Given the description of an element on the screen output the (x, y) to click on. 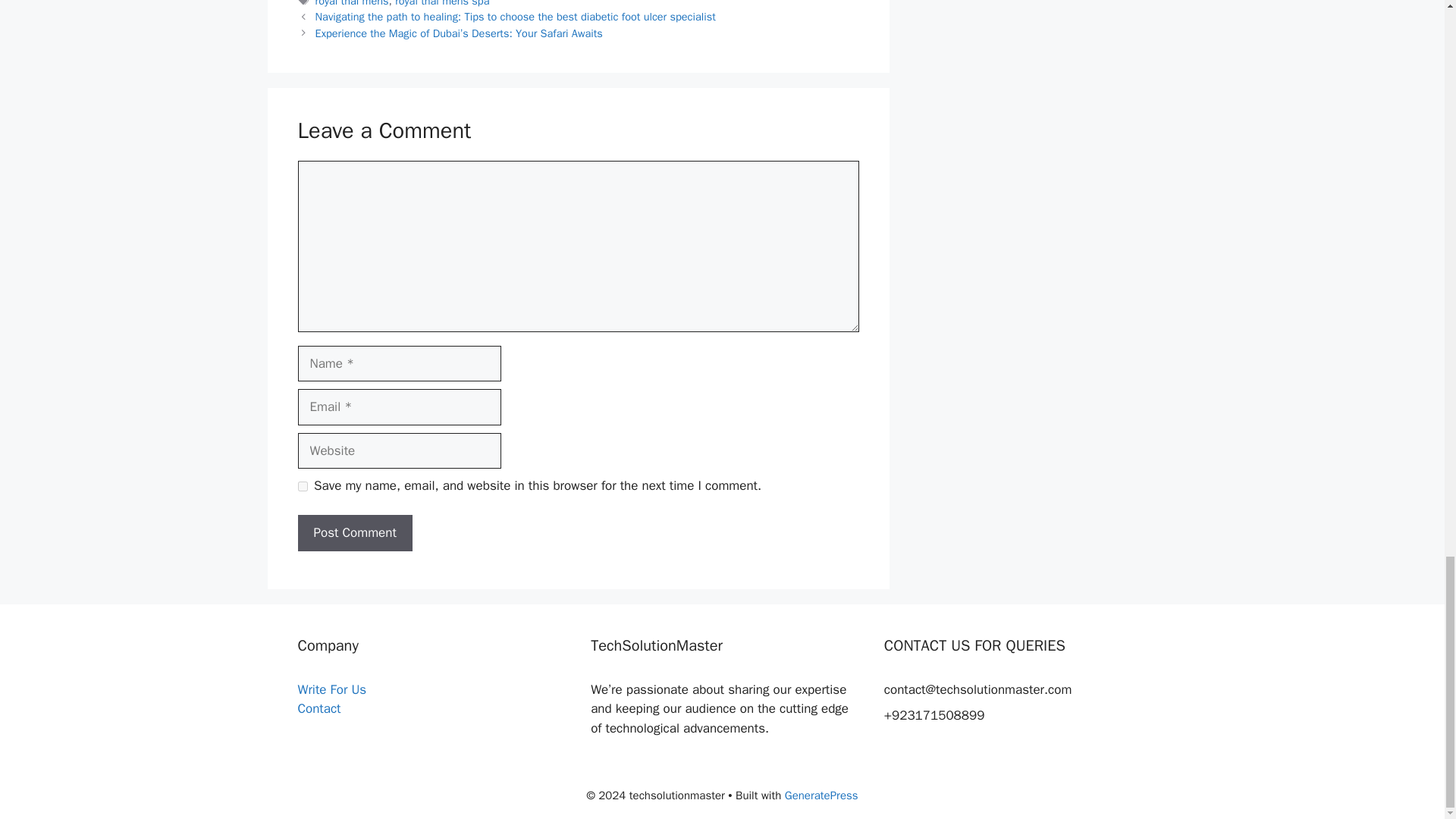
Write For Us (331, 689)
royal thai mens spa (441, 3)
GeneratePress (821, 795)
Contact (318, 708)
yes (302, 486)
Post Comment (354, 533)
royal thai mens (351, 3)
Post Comment (354, 533)
